Given the description of an element on the screen output the (x, y) to click on. 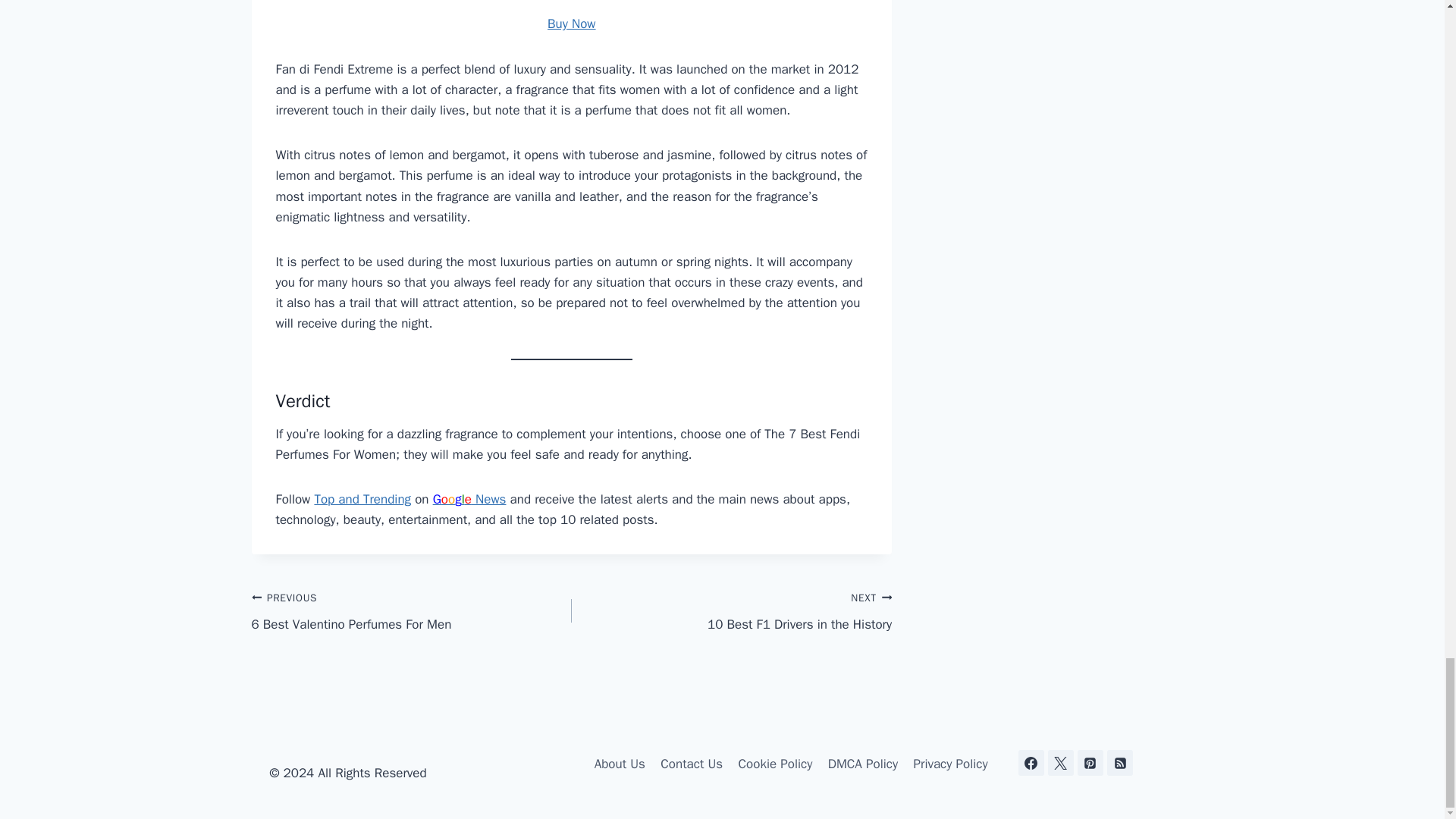
Buy Now (571, 23)
Top and Trending (362, 498)
Google News (731, 610)
